Given the description of an element on the screen output the (x, y) to click on. 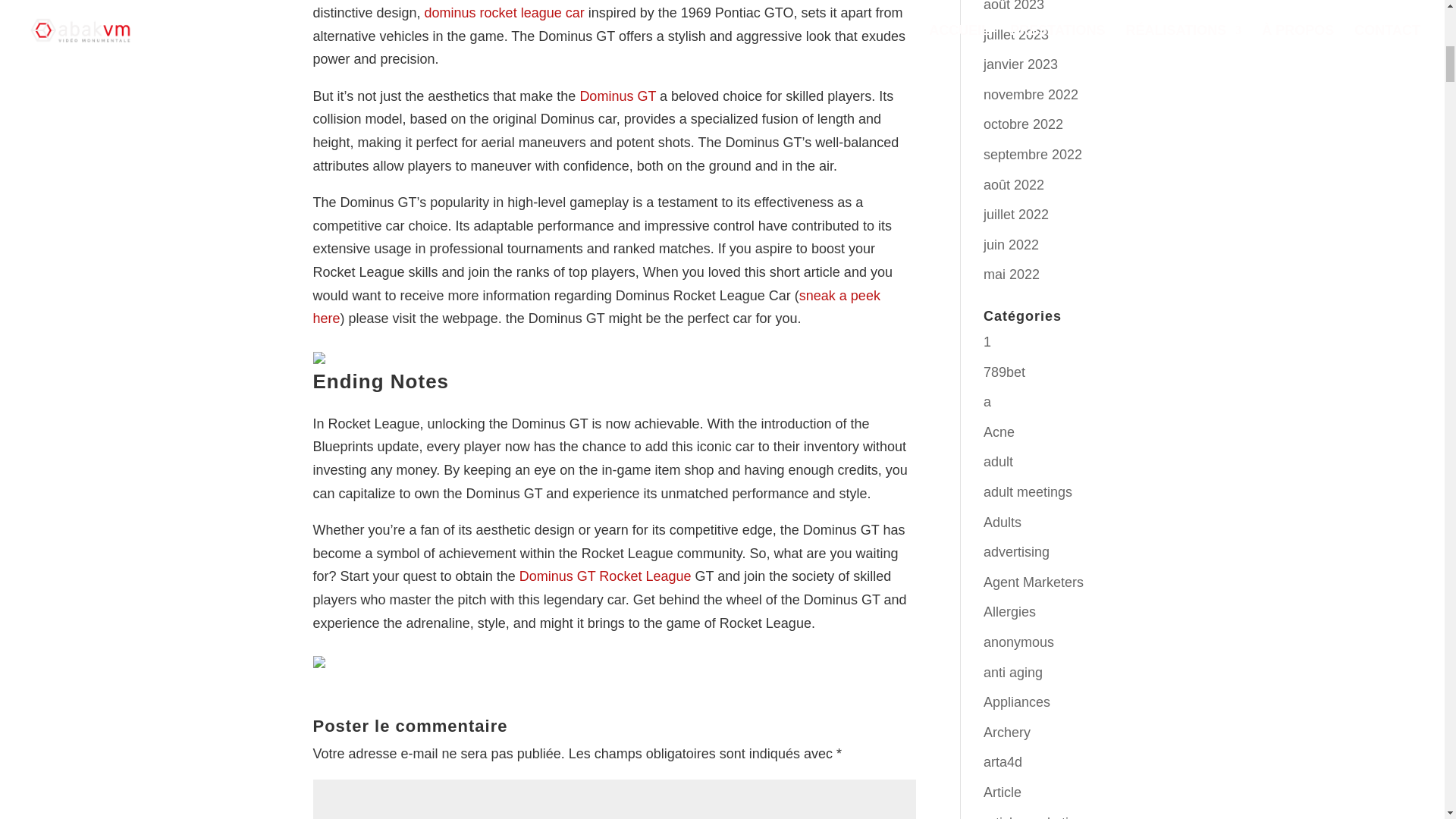
sneak a peek here (596, 307)
dominus rocket league car (505, 12)
Dominus GT Rocket League (605, 575)
Dominus GT (617, 96)
